Given the description of an element on the screen output the (x, y) to click on. 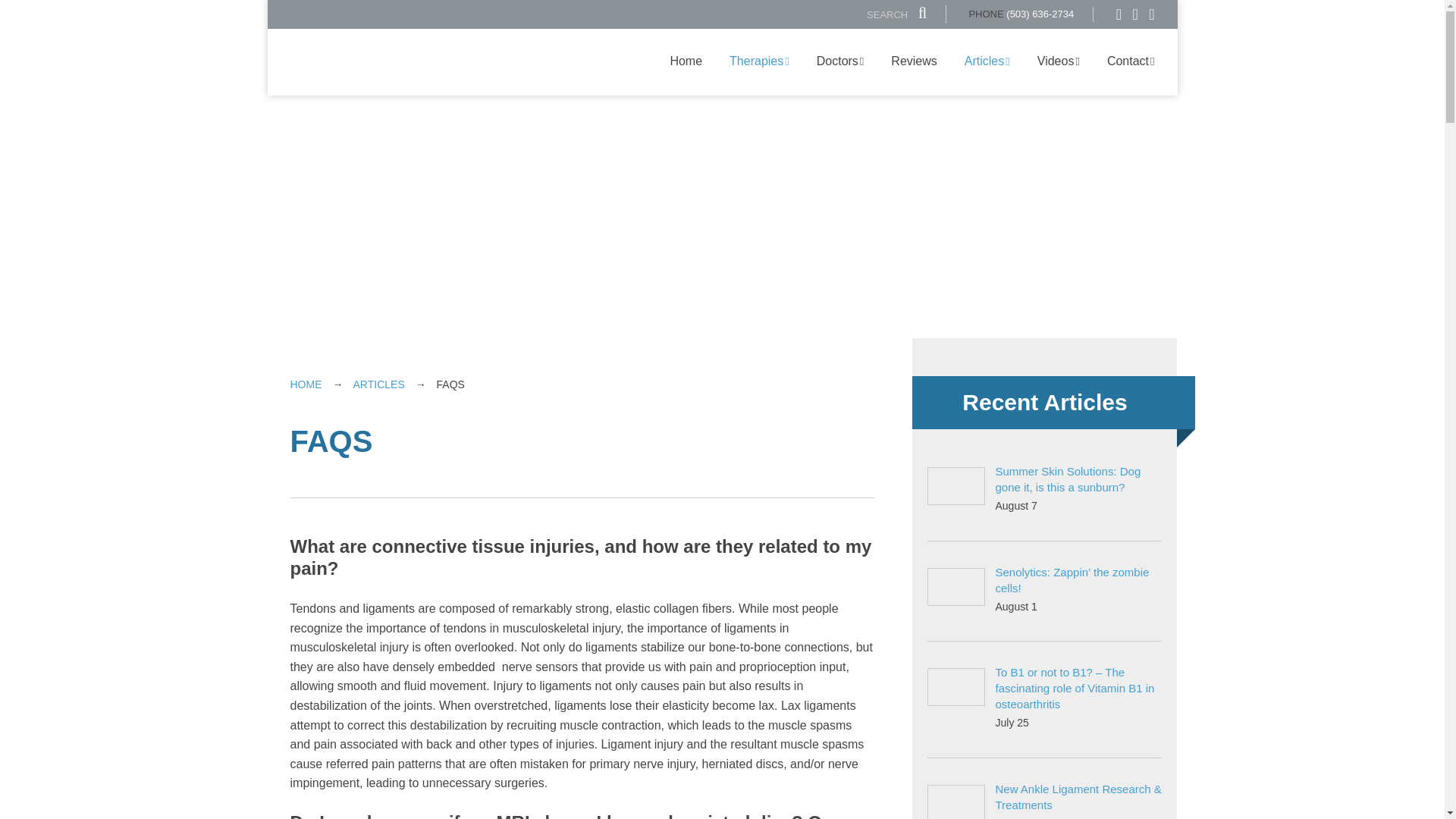
Therapies (759, 61)
Reviews (913, 61)
SEARCH (896, 13)
Home (686, 61)
Articles (986, 61)
Doctors (840, 61)
